Given the description of an element on the screen output the (x, y) to click on. 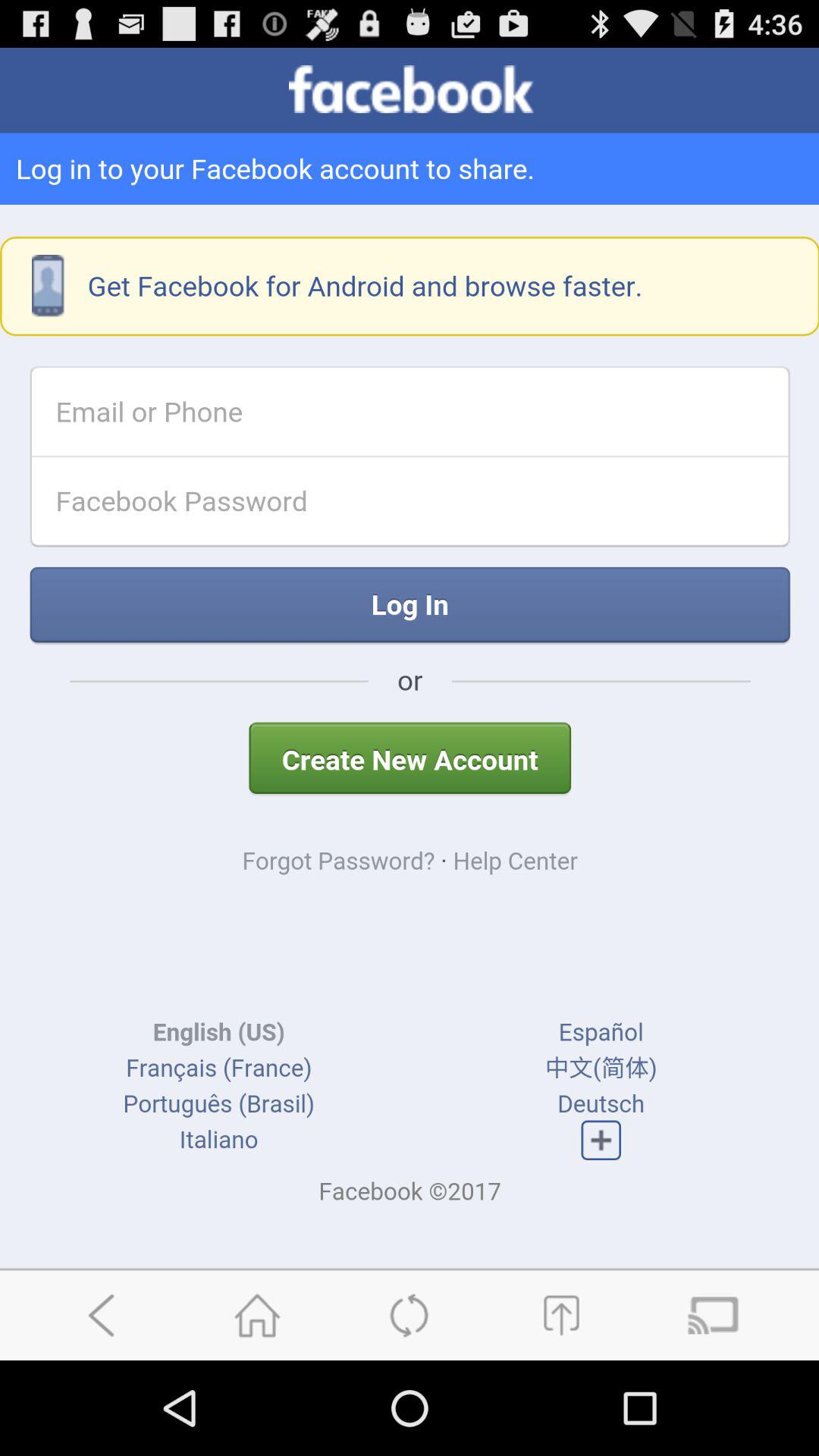
go to home (257, 1315)
